Given the description of an element on the screen output the (x, y) to click on. 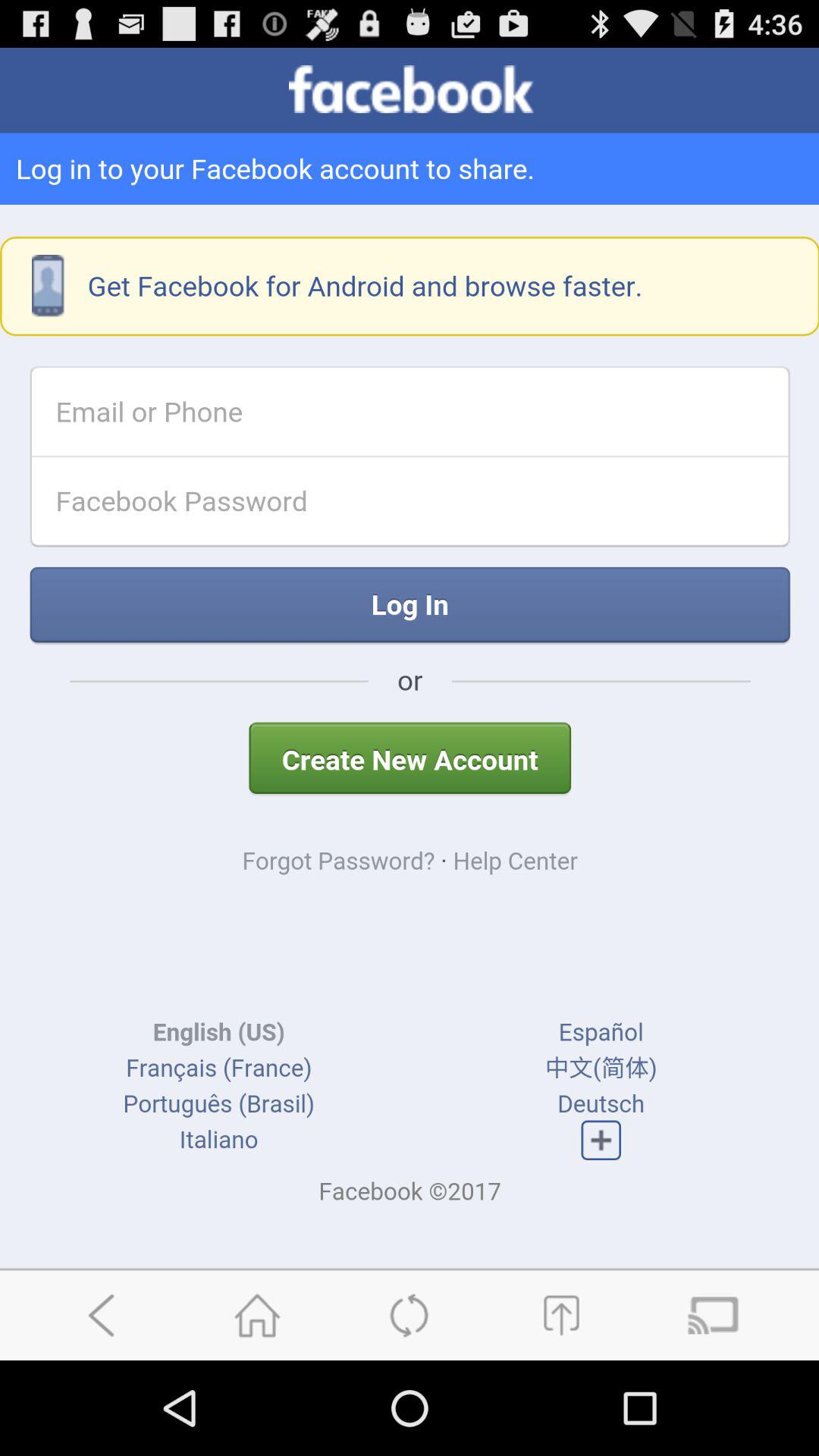
go to home (257, 1315)
